Given the description of an element on the screen output the (x, y) to click on. 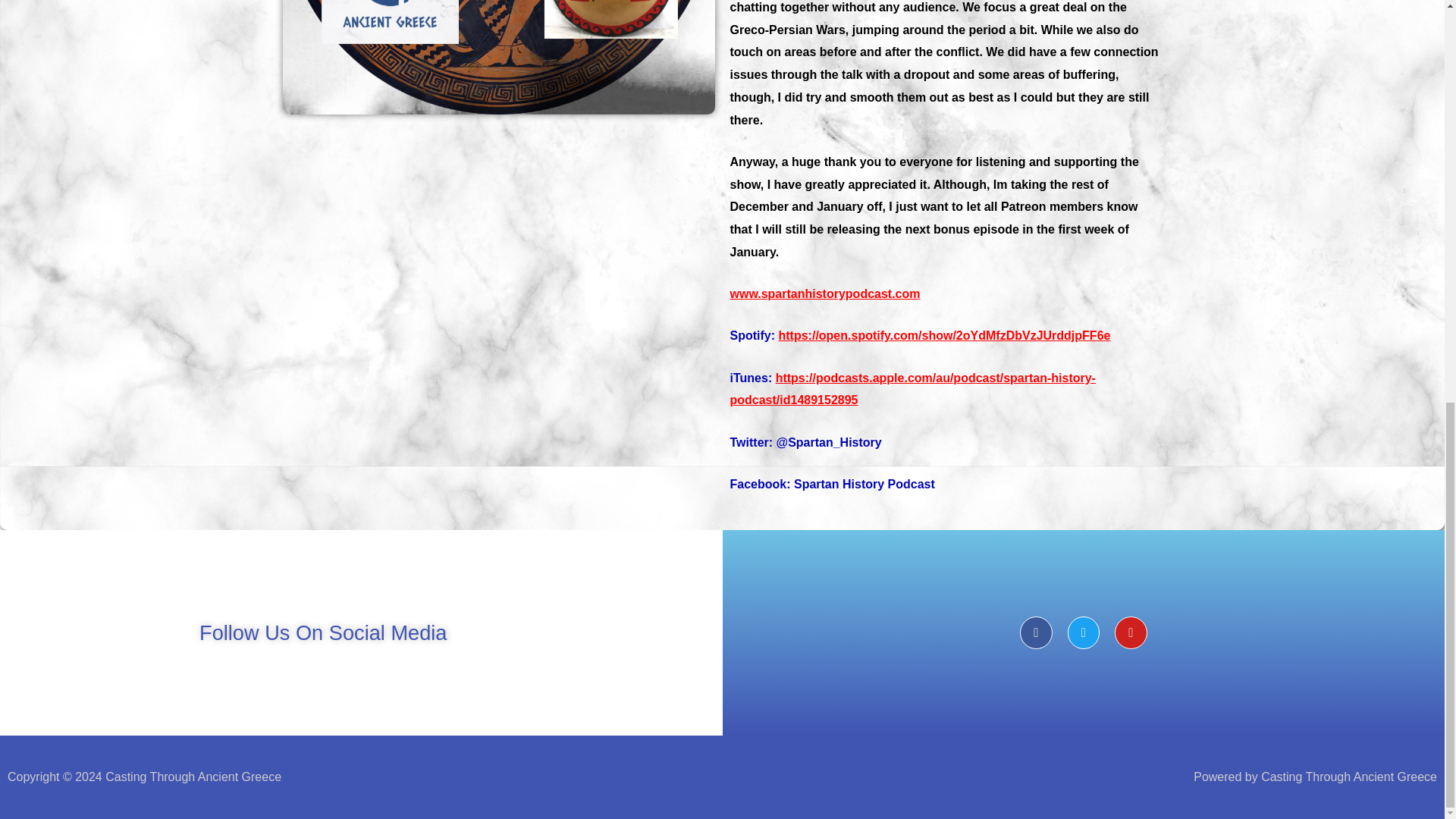
Youtube (1131, 632)
www.spartanhistorypodcast.com (824, 293)
Facebook-f (1036, 632)
Twitter (1083, 632)
